Given the description of an element on the screen output the (x, y) to click on. 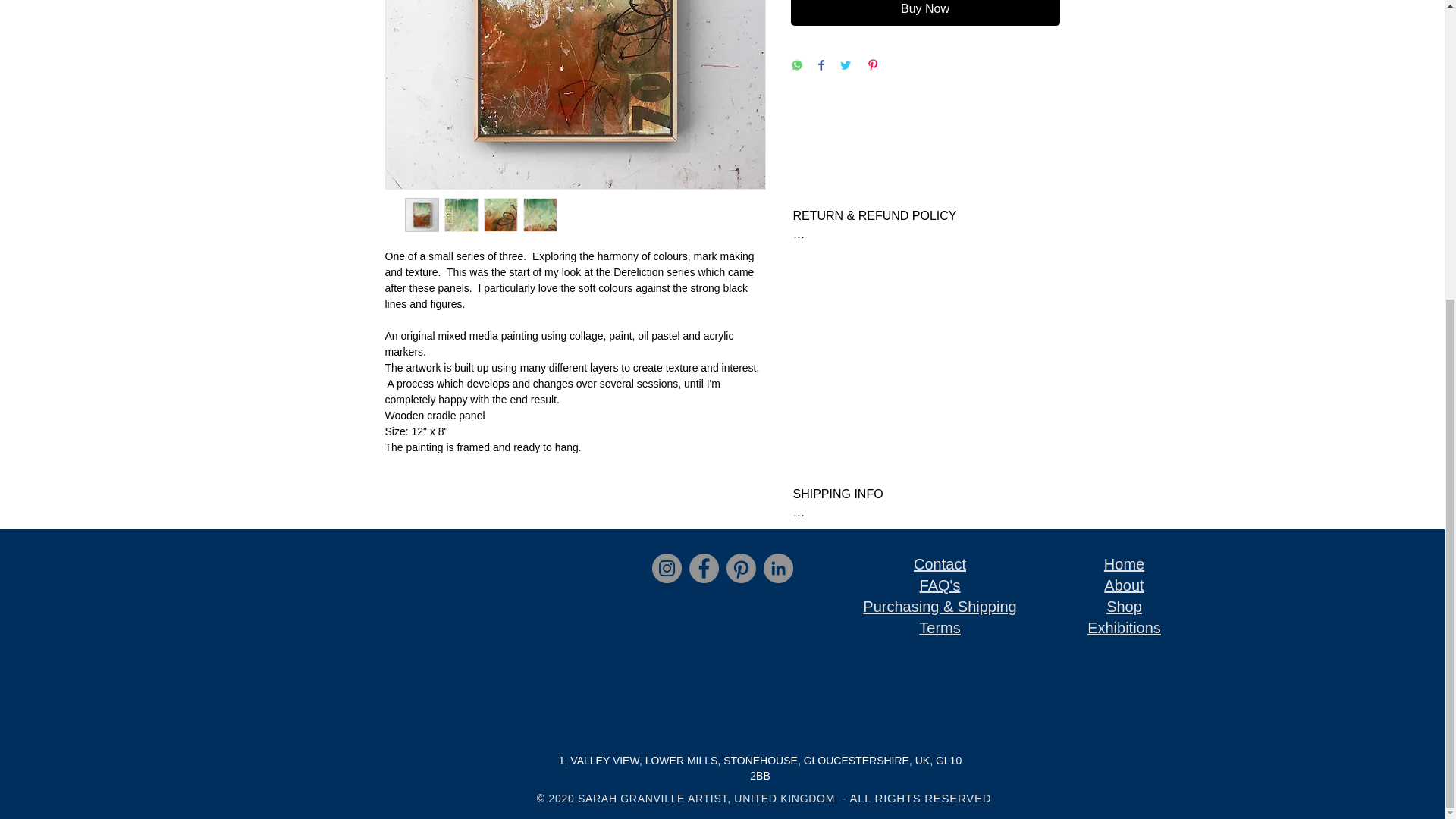
Exhibitions (1123, 627)
Shop (1123, 606)
FAQ's (940, 585)
Buy Now (924, 12)
Terms (938, 627)
Home (1123, 564)
About (1122, 585)
Contact (940, 564)
